Given the description of an element on the screen output the (x, y) to click on. 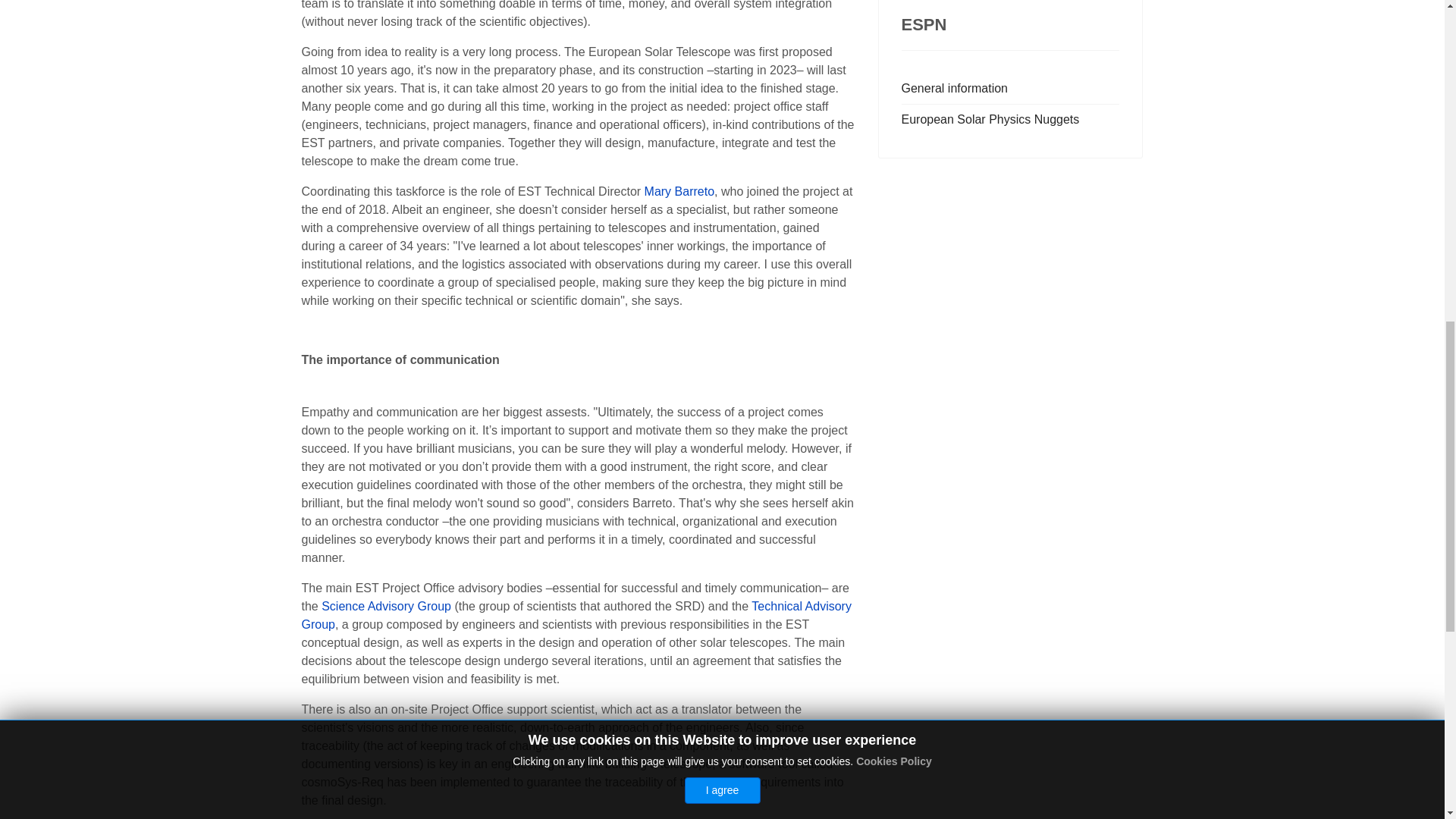
General information (1010, 88)
Technical Advisory Group (576, 614)
Science Advisory Group (386, 605)
Mary Barreto (679, 191)
